Given the description of an element on the screen output the (x, y) to click on. 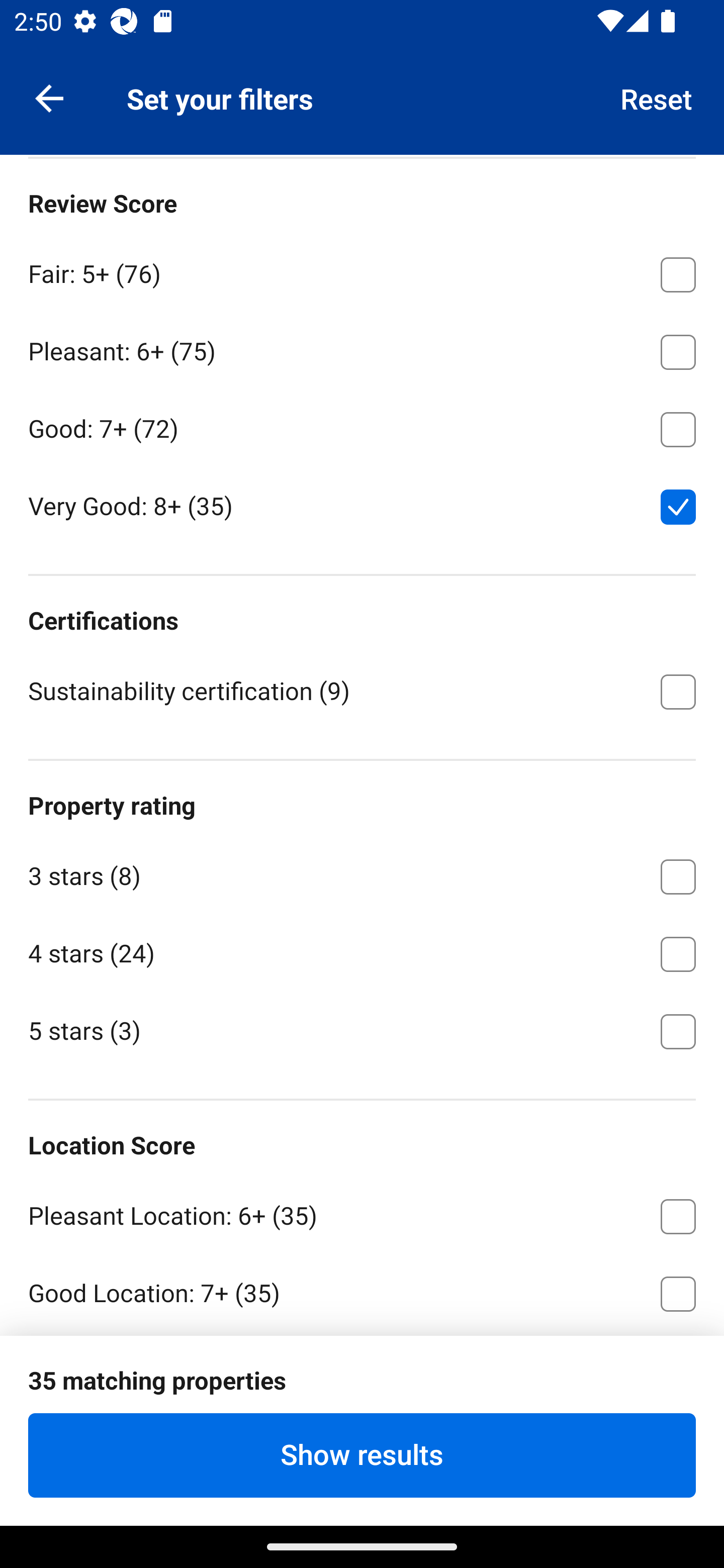
Navigate up (49, 97)
Reset (656, 97)
Fair: 5+ ⁦(76) (361, 271)
Pleasant: 6+ ⁦(75) (361, 348)
Good: 7+ ⁦(72) (361, 425)
Very Good: 8+ ⁦(35) (361, 504)
Sustainability certification ⁦(9) (361, 689)
3 stars ⁦(8) (361, 873)
4 stars ⁦(24) (361, 950)
5 stars ⁦(3) (361, 1029)
Pleasant Location: 6+ ⁦(35) (361, 1212)
Good Location: 7+ ⁦(35) (361, 1290)
Show results (361, 1454)
